Given the description of an element on the screen output the (x, y) to click on. 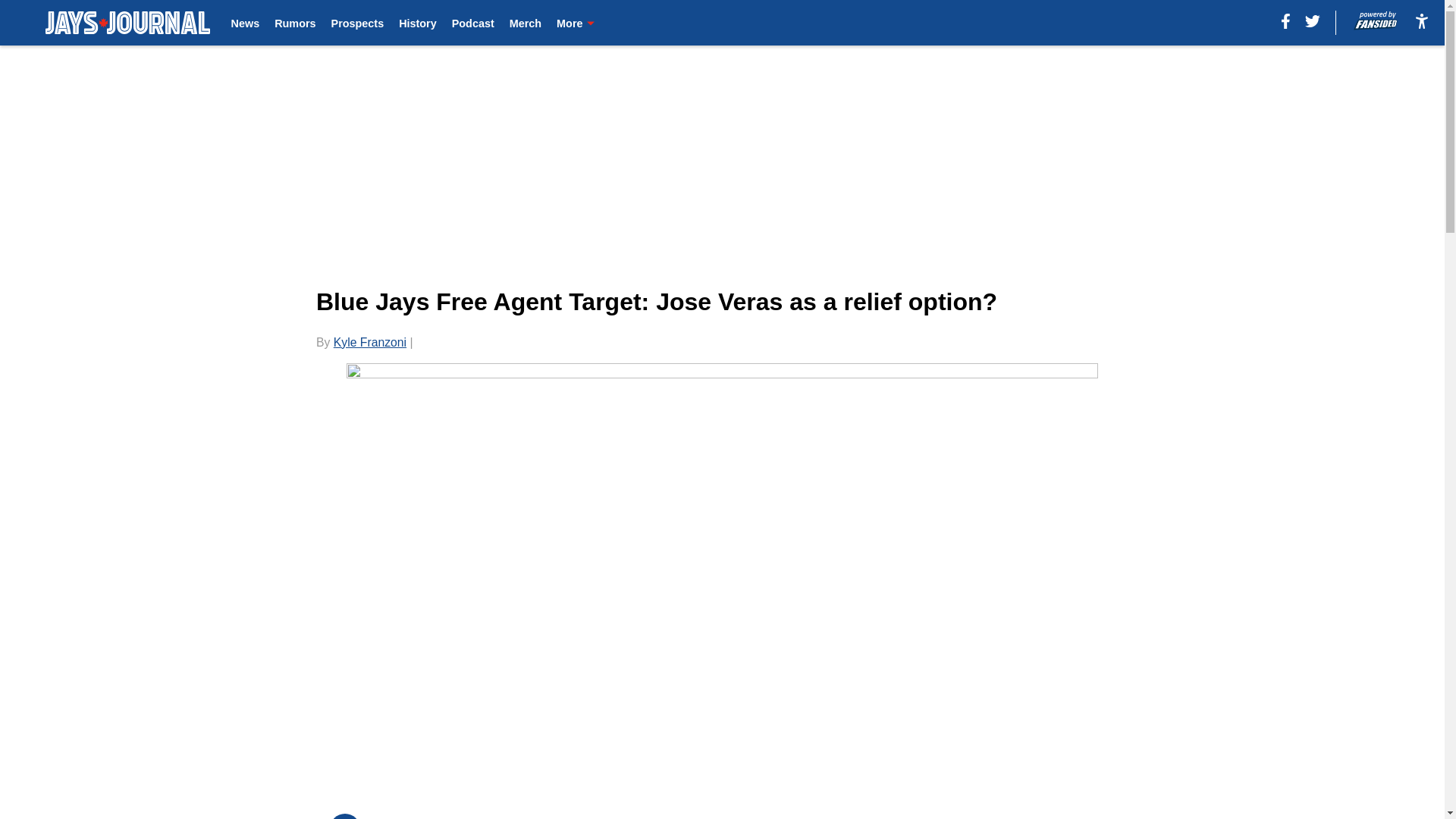
History (417, 23)
Podcast (473, 23)
Prospects (357, 23)
Merch (525, 23)
Rumors (295, 23)
Kyle Franzoni (369, 341)
News (245, 23)
